Given the description of an element on the screen output the (x, y) to click on. 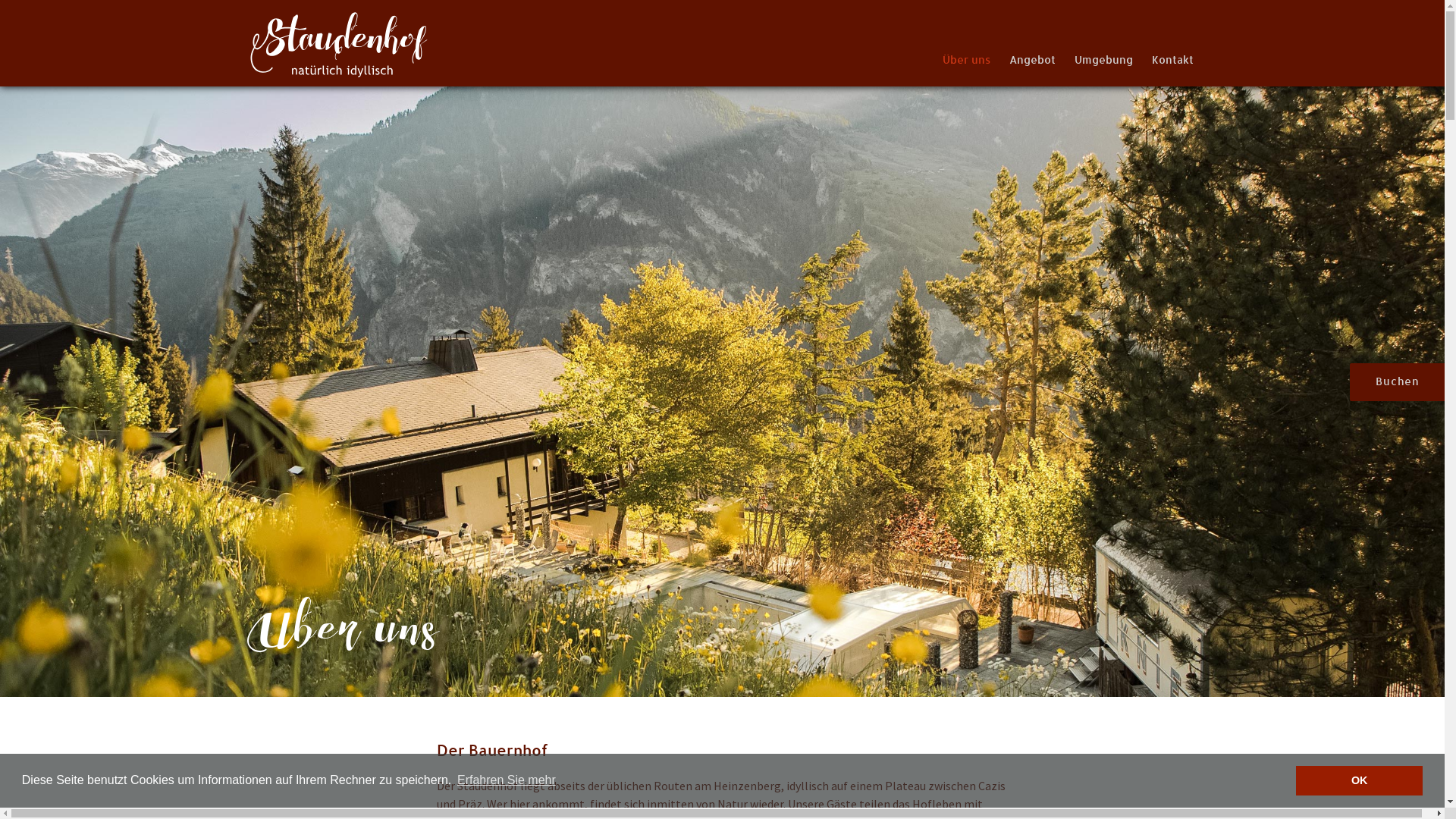
Angebot Element type: text (1032, 52)
Buchen Element type: text (1396, 382)
Erfahren Sie mehr Element type: text (506, 779)
Kontakt Element type: text (1172, 52)
OK Element type: text (1358, 780)
Umgebung Element type: text (1103, 52)
